Given the description of an element on the screen output the (x, y) to click on. 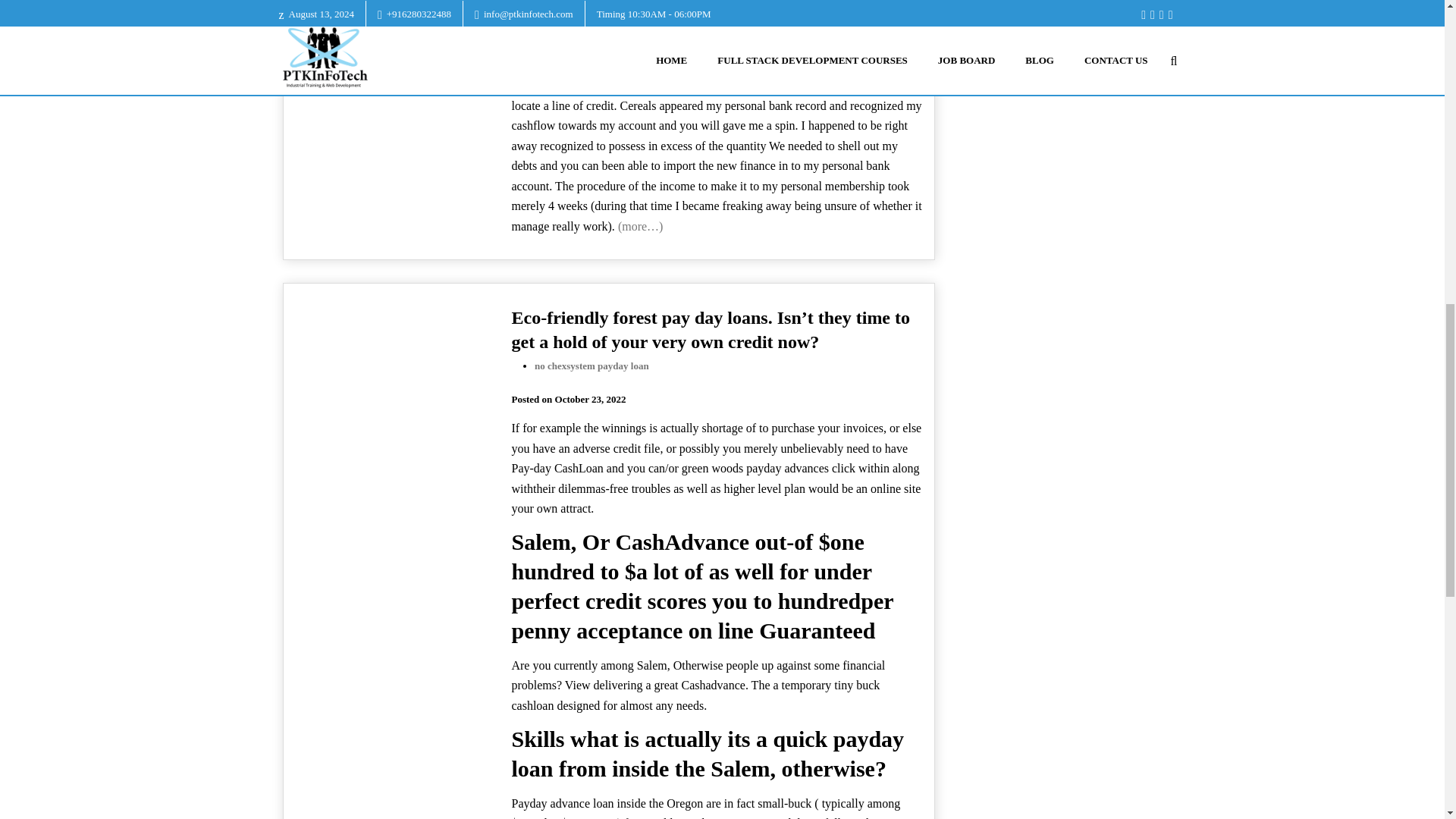
Web Designing Course (1063, 13)
no chexsystem payday loan (591, 365)
SEO Course (1063, 43)
